Given the description of an element on the screen output the (x, y) to click on. 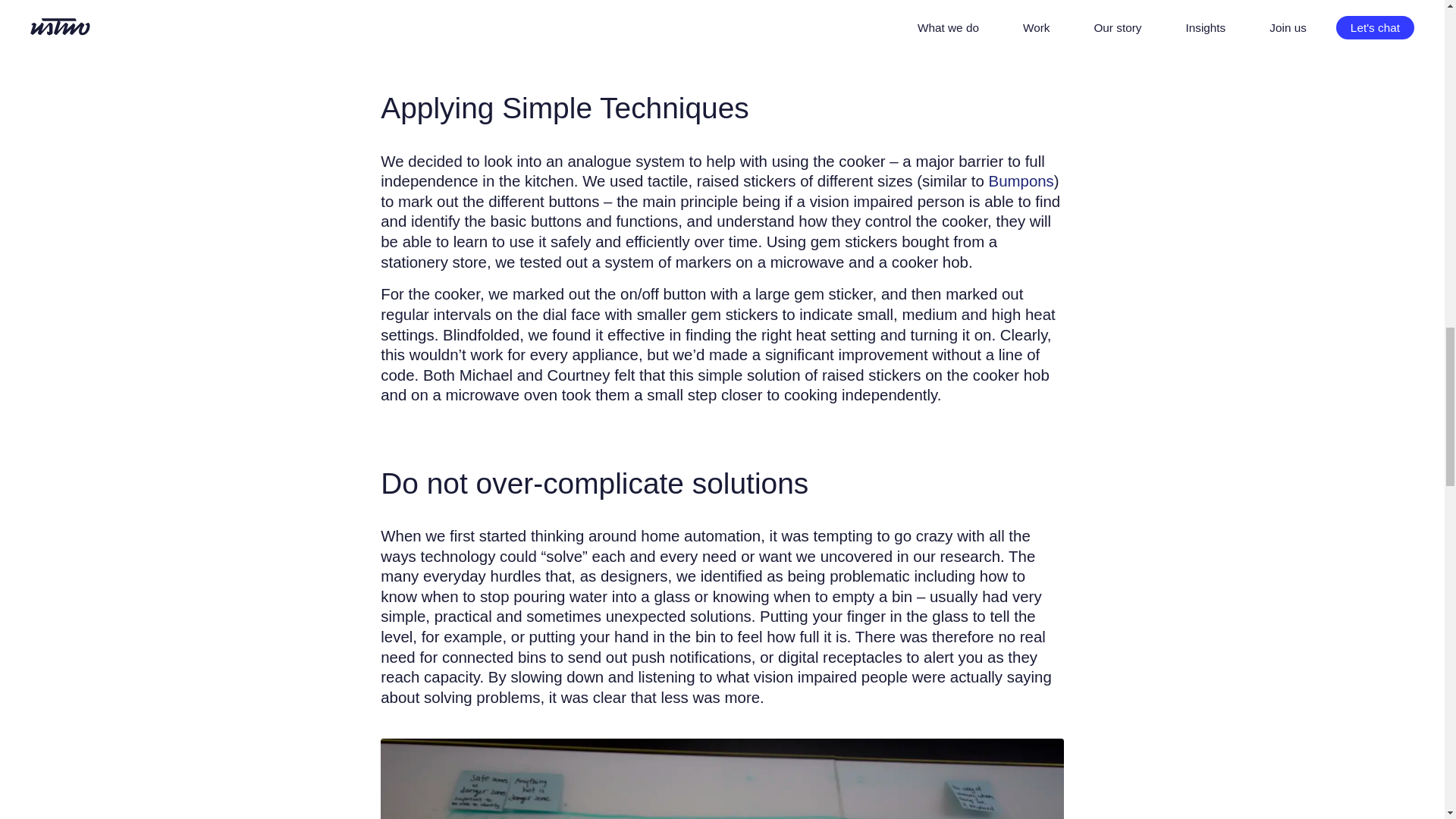
Bumpons (1021, 180)
